Given the description of an element on the screen output the (x, y) to click on. 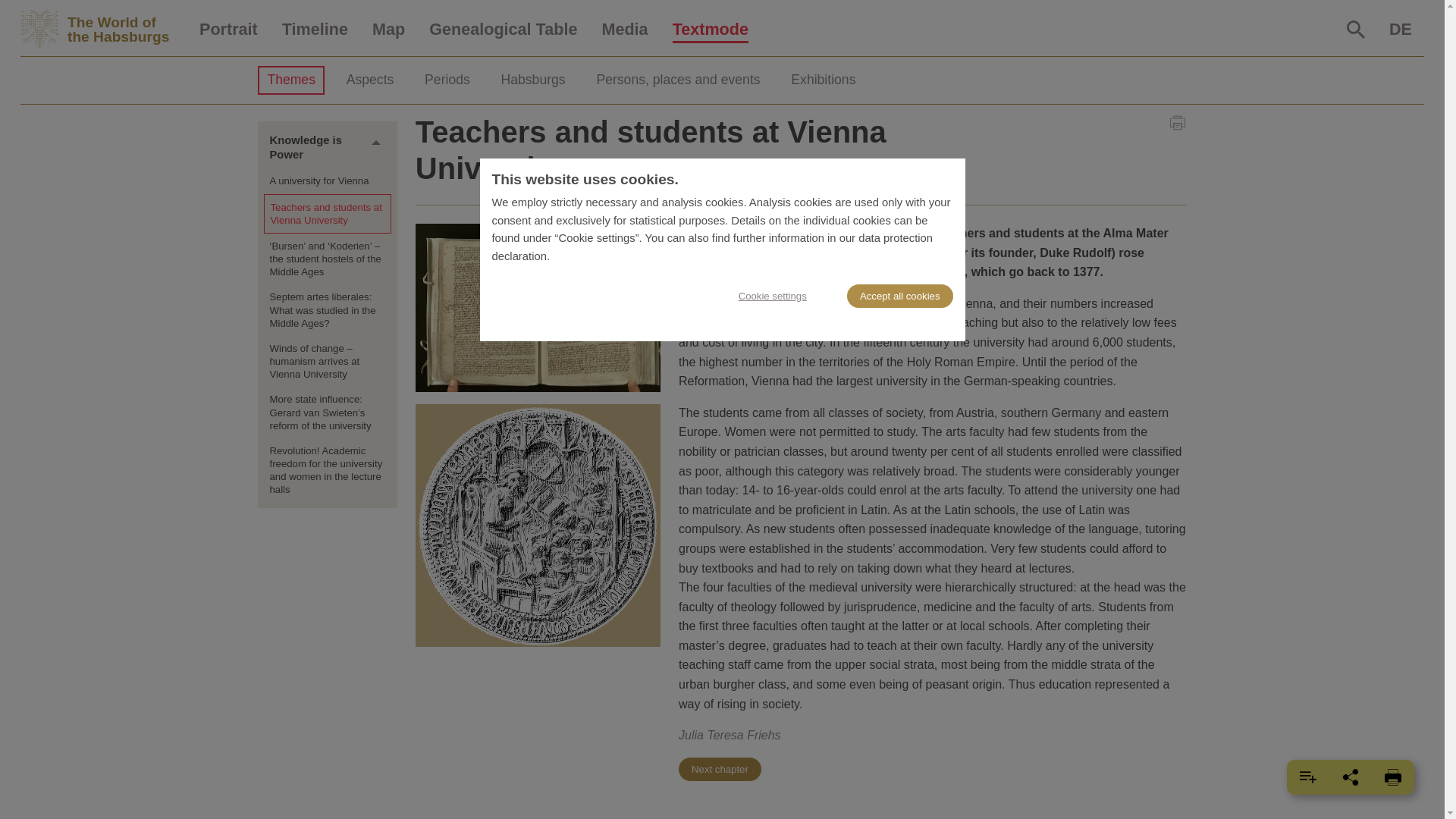
Portrait (228, 29)
Genealogical Table (103, 29)
Toggle menu (502, 29)
DE (376, 142)
Timeline (1400, 29)
search (314, 29)
Map (1356, 29)
Textmode (387, 29)
Die Welt der Habsburger Home (710, 29)
Media (103, 29)
search (624, 29)
